Given the description of an element on the screen output the (x, y) to click on. 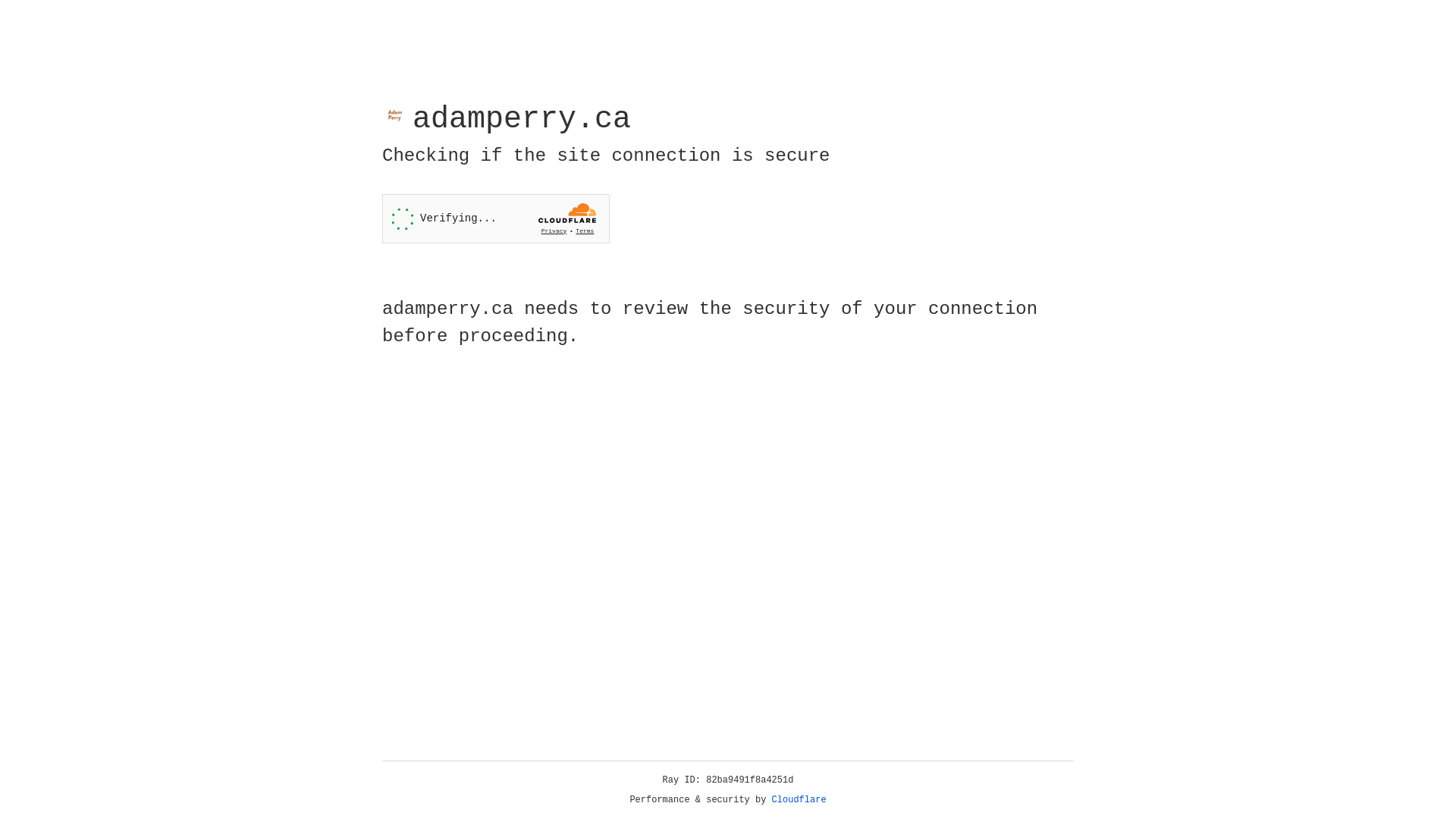
Widget containing a Cloudflare security challenge Element type: hover (495, 218)
Cloudflare Element type: text (798, 799)
